Given the description of an element on the screen output the (x, y) to click on. 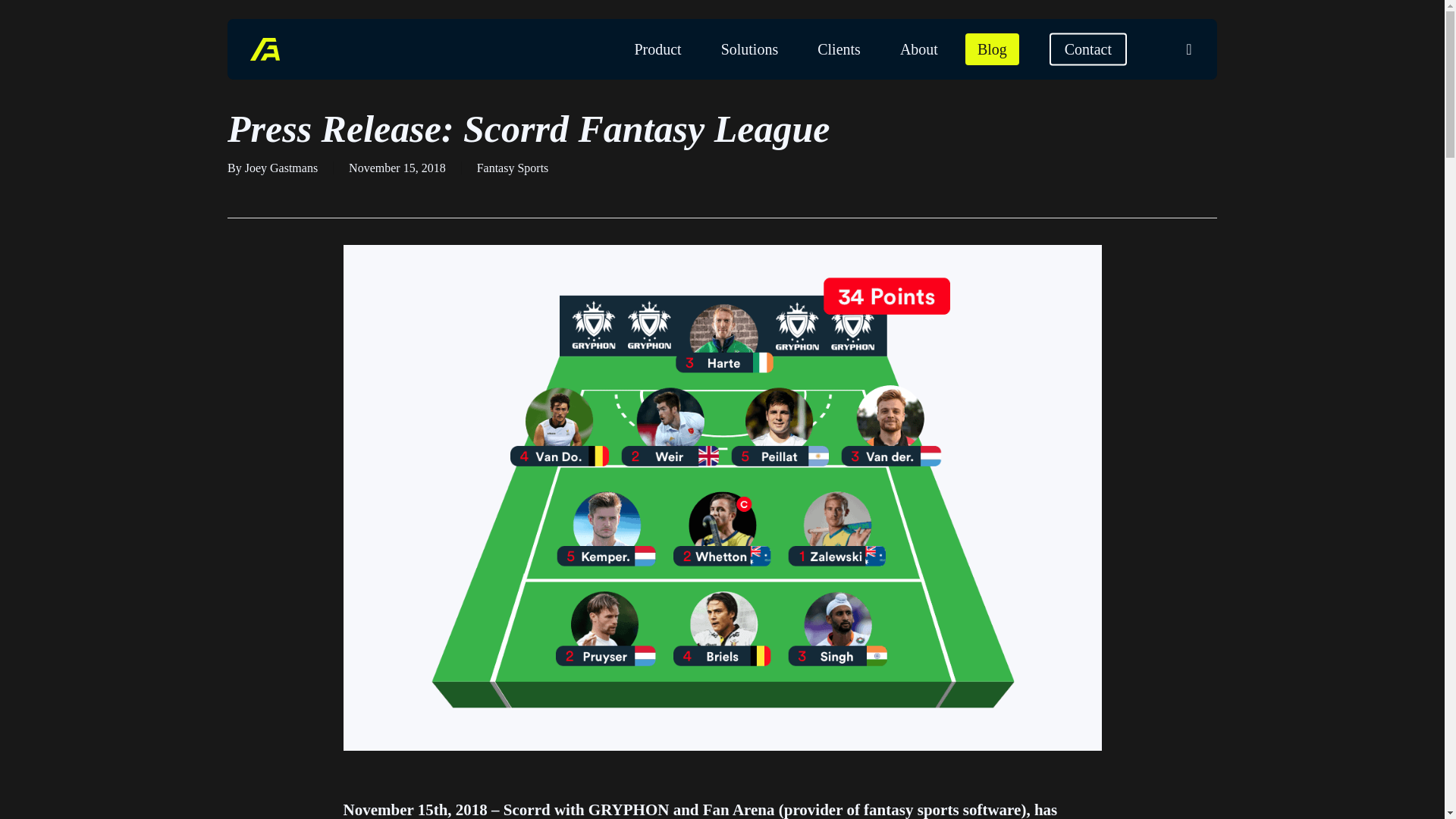
Joey Gastmans (280, 167)
Posts by Joey Gastmans (280, 167)
Contact (1087, 49)
Solutions (749, 49)
Fantasy Sports (512, 167)
About (919, 49)
Clients (838, 49)
Blog (992, 49)
Product (657, 49)
search (1188, 48)
